Given the description of an element on the screen output the (x, y) to click on. 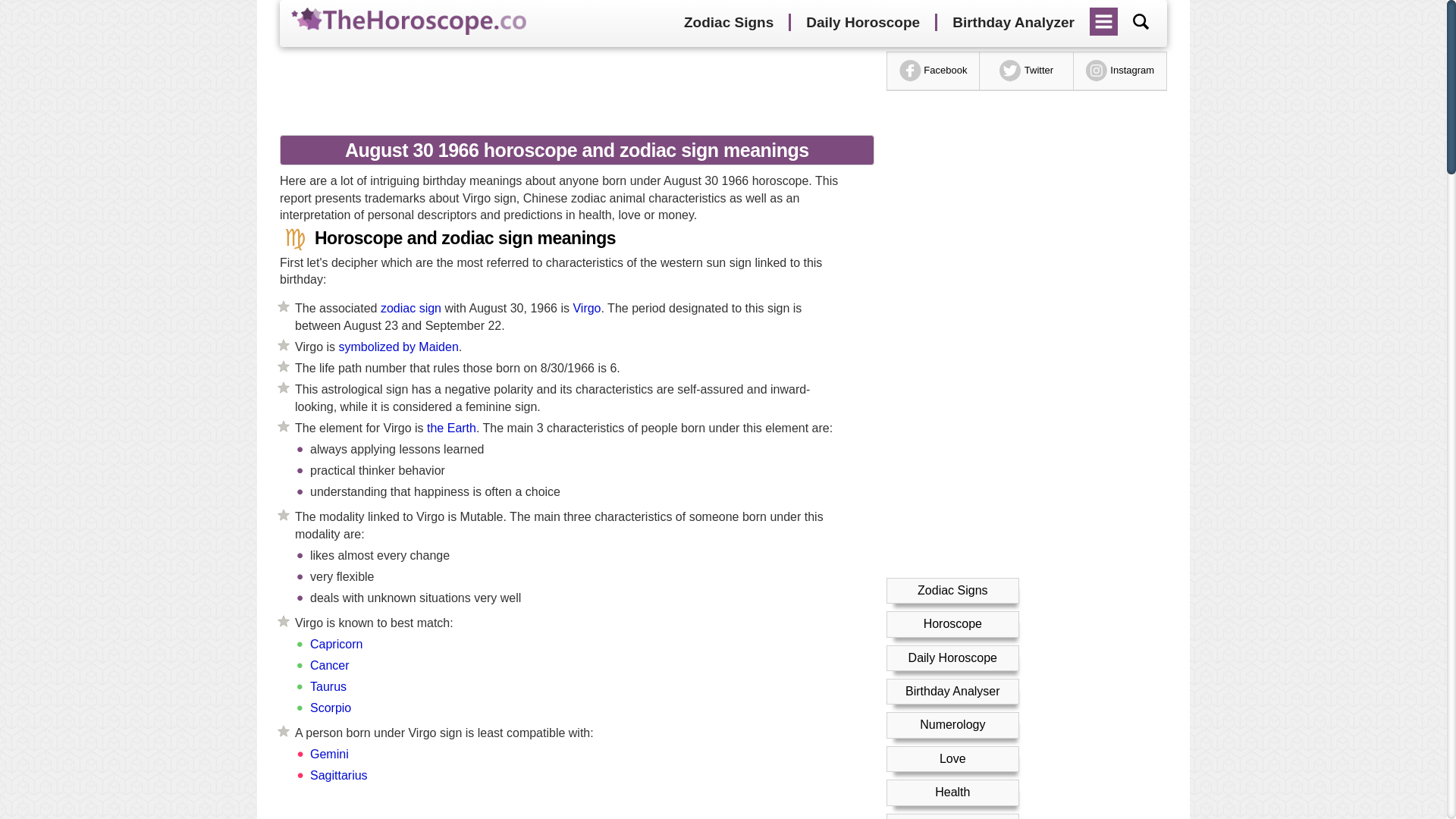
Numerology (952, 724)
Birthday Analyzer (1013, 22)
Birthday Analyser (952, 690)
Horoscope (952, 623)
Advertisement (571, 810)
Zodiac Signs (952, 590)
Health (952, 791)
Love (952, 758)
Advertisement (571, 88)
